Given the description of an element on the screen output the (x, y) to click on. 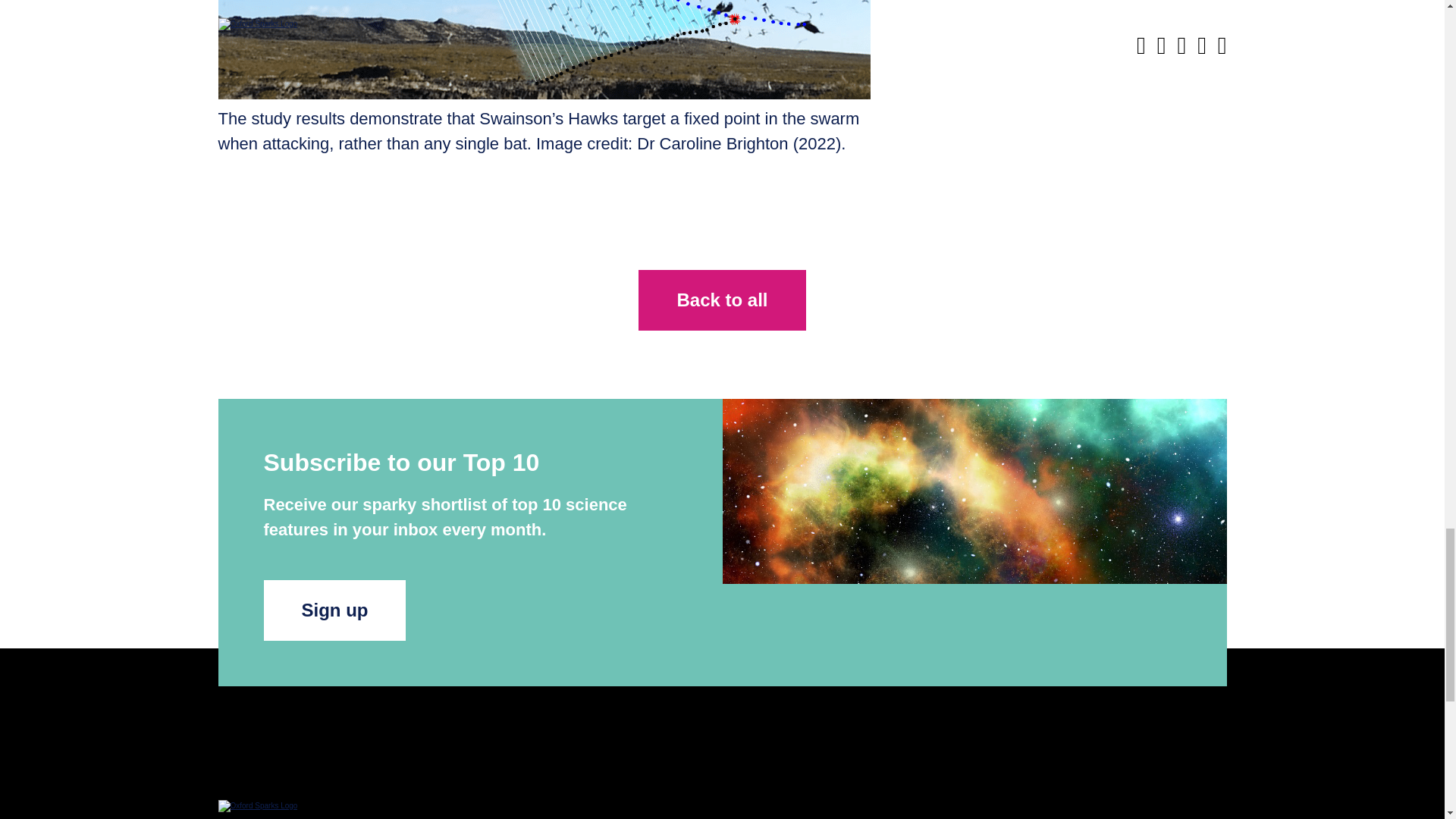
Oxford Sparks (258, 805)
Sign up (334, 609)
Back to all (722, 300)
